Given the description of an element on the screen output the (x, y) to click on. 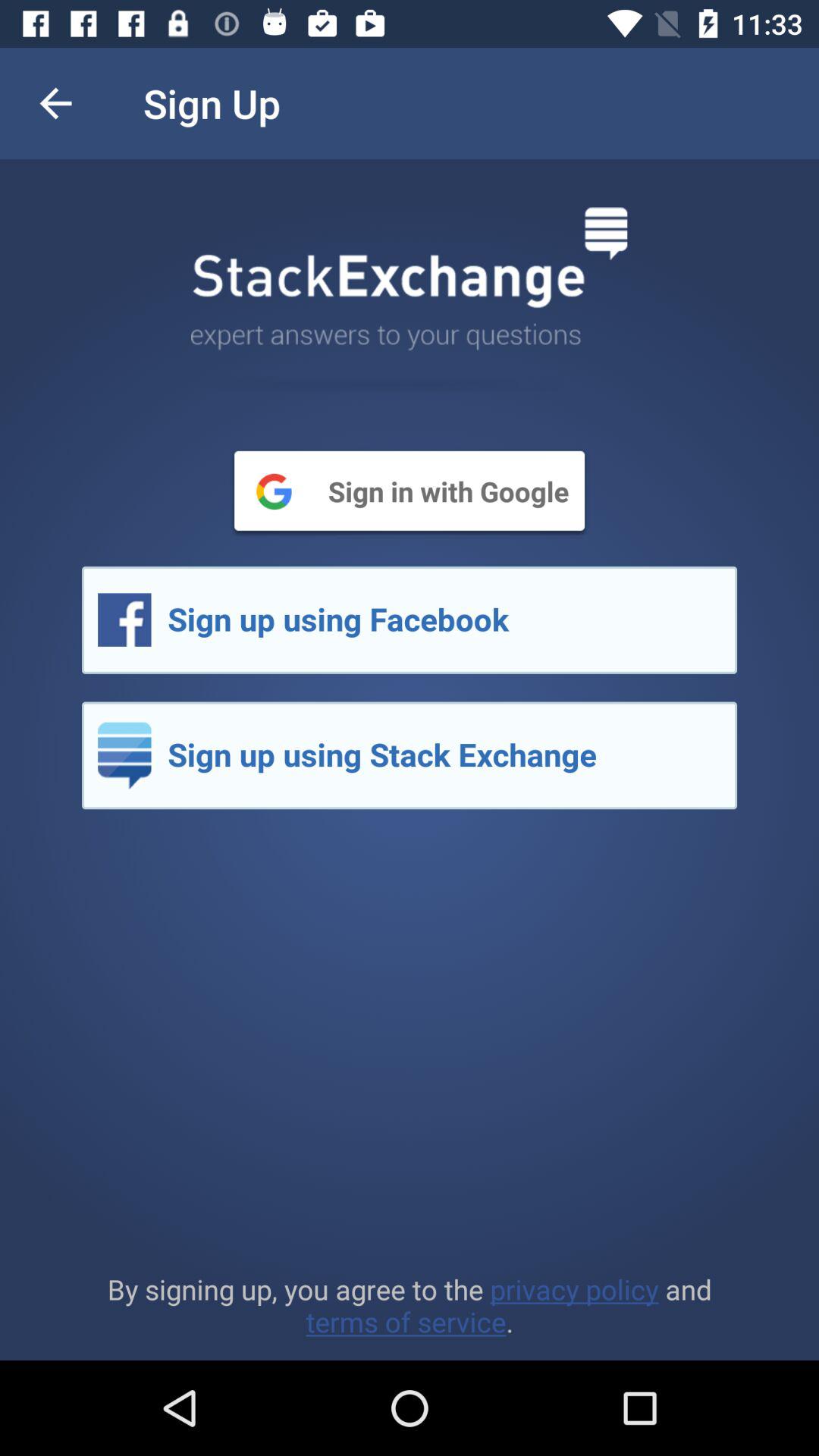
click by signing up icon (409, 1305)
